Given the description of an element on the screen output the (x, y) to click on. 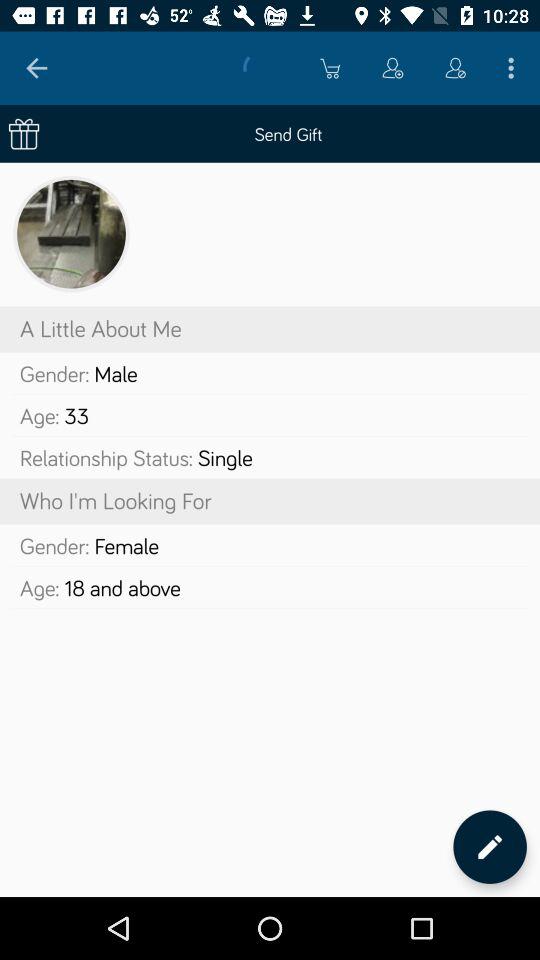
turn off icon above send gift icon (513, 67)
